Given the description of an element on the screen output the (x, y) to click on. 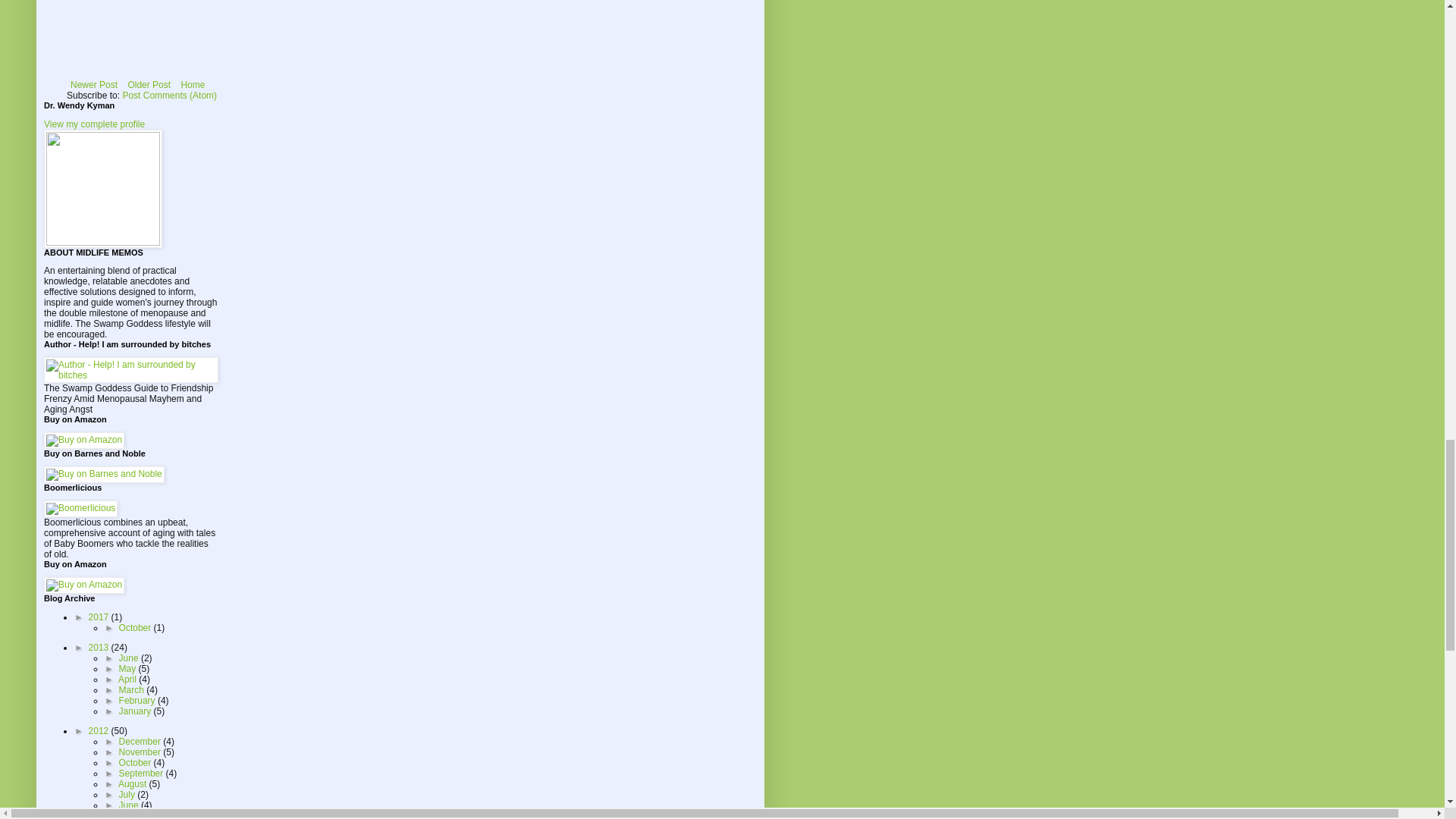
2017 (100, 616)
View my complete profile (93, 123)
October (136, 627)
Older Post (148, 85)
Older Post (148, 85)
Newer Post (93, 85)
Home (192, 85)
Newer Post (93, 85)
